Given the description of an element on the screen output the (x, y) to click on. 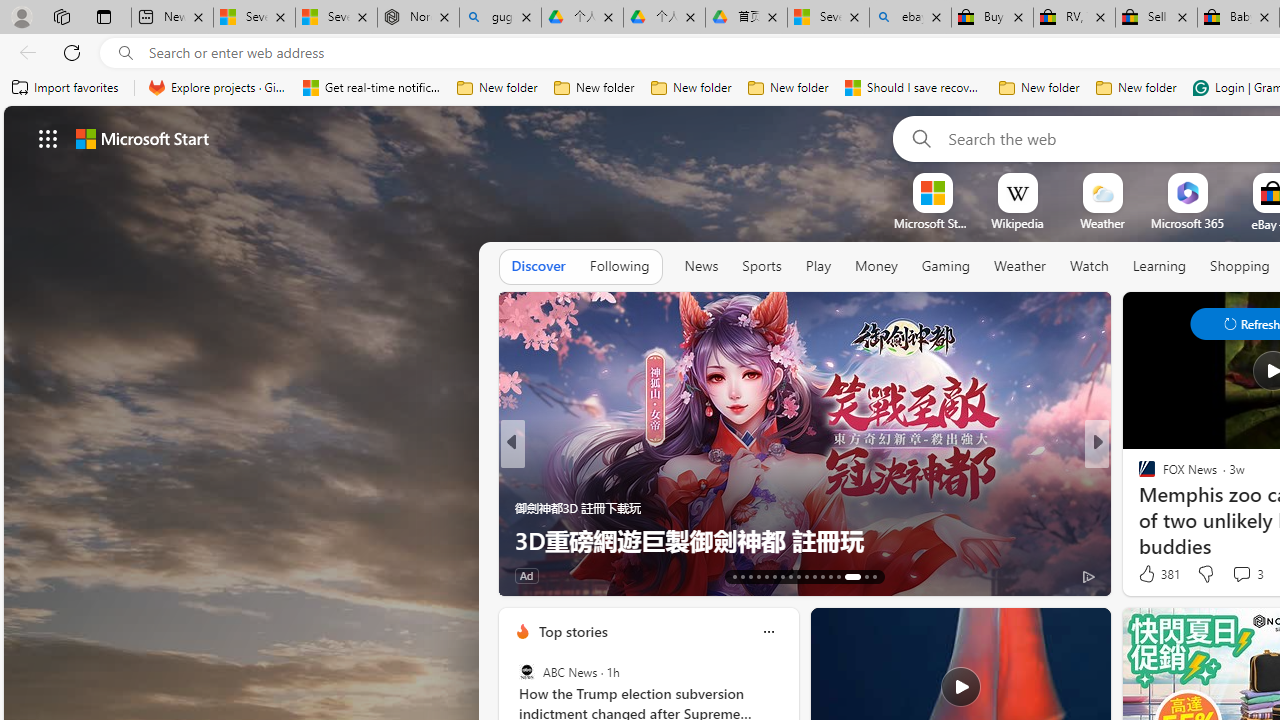
honeymallow (522, 507)
RV, Trailer & Camper Steps & Ladders for sale | eBay (1074, 17)
AutomationID: tab-14 (742, 576)
AutomationID: tab-27 (846, 576)
View comments 23 Comment (11, 575)
Money (876, 267)
News (701, 267)
AutomationID: tab-26 (838, 576)
ABC News (526, 672)
Weather (1019, 267)
Sports (761, 265)
AutomationID: waffle (47, 138)
Shopping (1240, 265)
Gaming (945, 267)
